Given the description of an element on the screen output the (x, y) to click on. 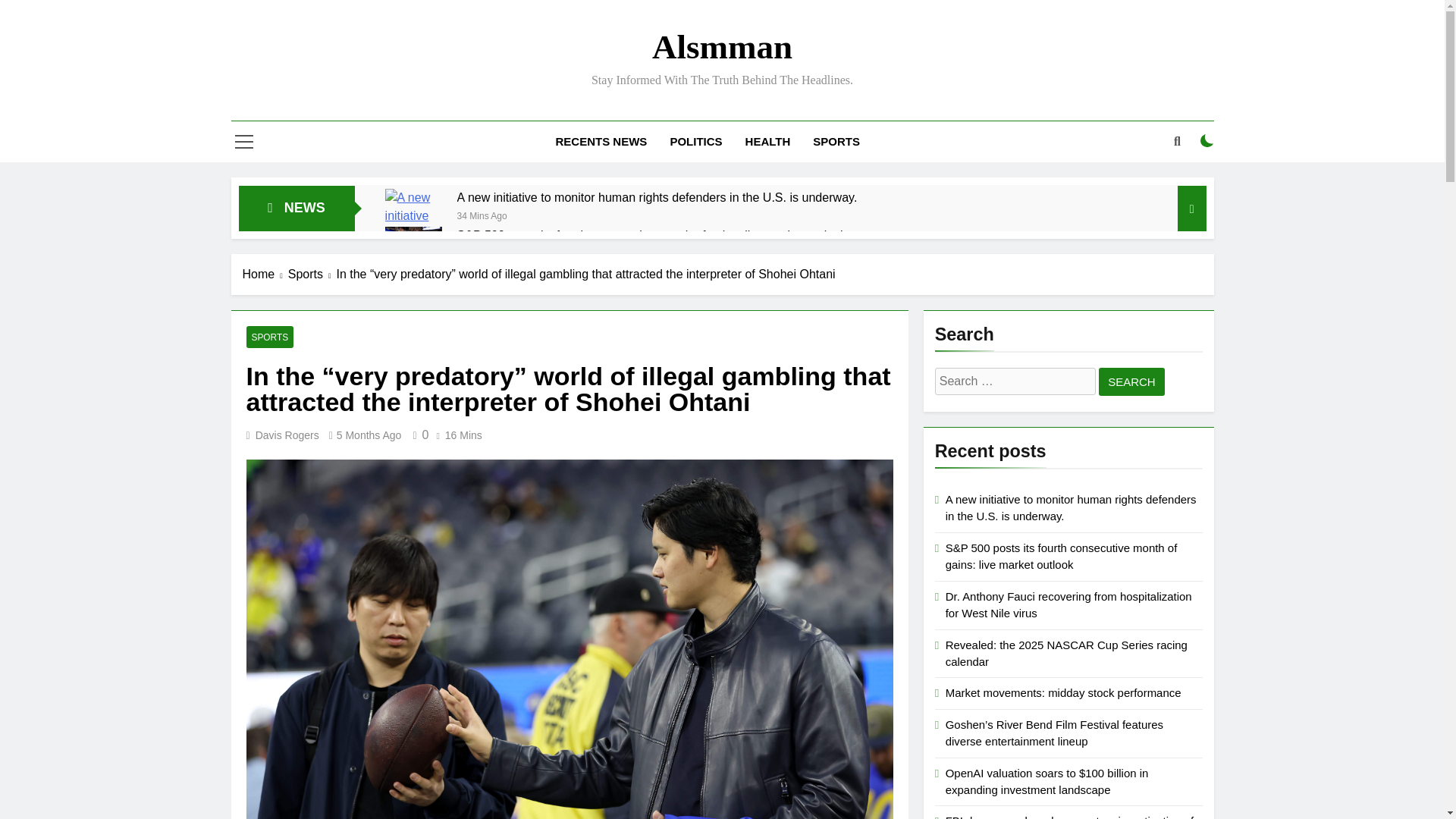
Search (1131, 381)
POLITICS (695, 141)
34 Mins Ago (481, 214)
RECENTS NEWS (601, 141)
on (1206, 141)
SPORTS (270, 336)
Davis Rogers (287, 435)
Search (1131, 381)
HEALTH (767, 141)
